Given the description of an element on the screen output the (x, y) to click on. 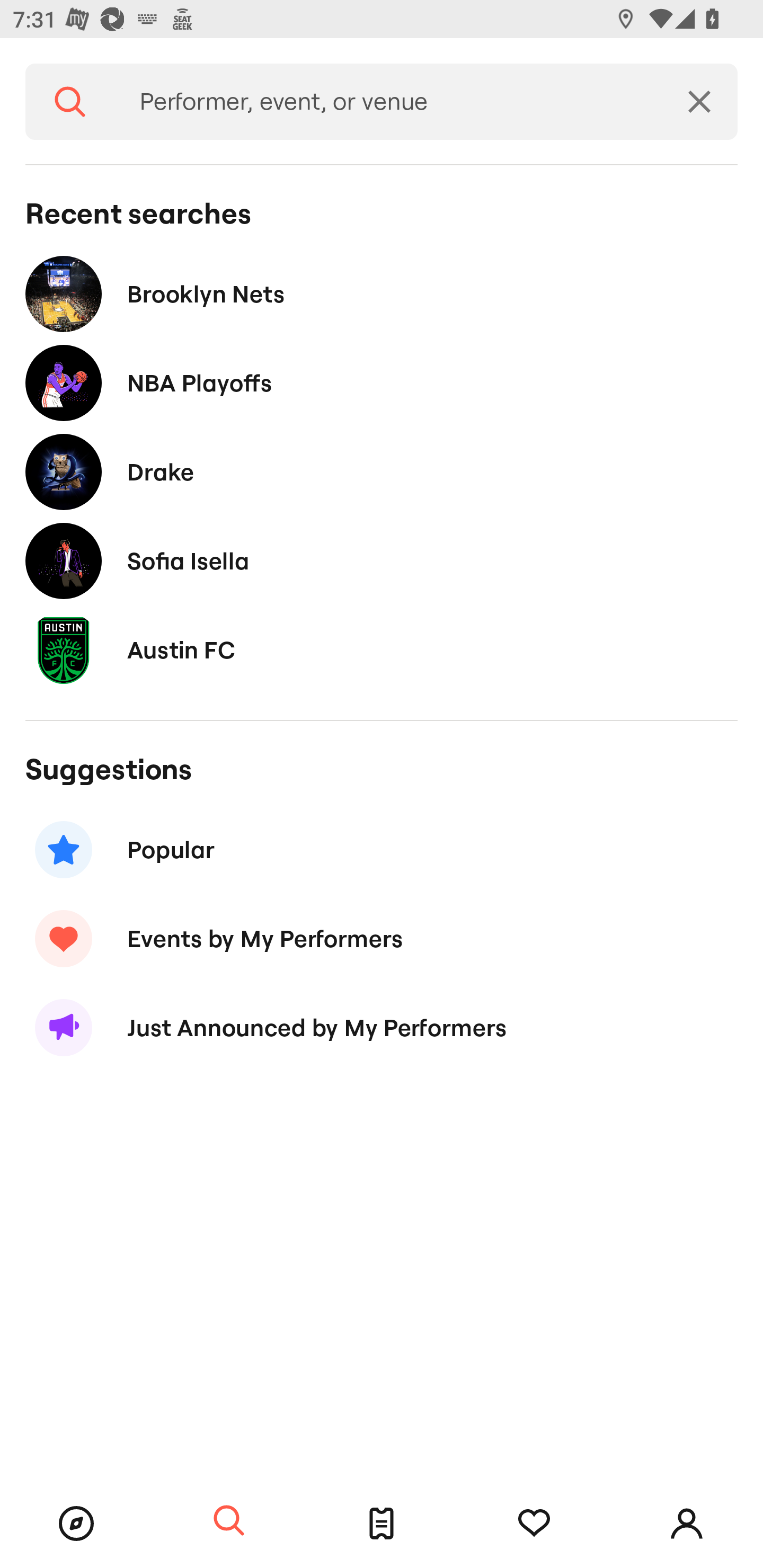
Search (69, 101)
Performer, event, or venue (387, 101)
Clear (699, 101)
Brooklyn Nets (381, 293)
NBA Playoffs (381, 383)
Drake (381, 471)
Sofia Isella (381, 560)
Austin FC (381, 649)
Popular (381, 849)
Events by My Performers (381, 938)
Just Announced by My Performers (381, 1027)
Browse (76, 1523)
Search (228, 1521)
Tickets (381, 1523)
Tracking (533, 1523)
Account (686, 1523)
